Given the description of an element on the screen output the (x, y) to click on. 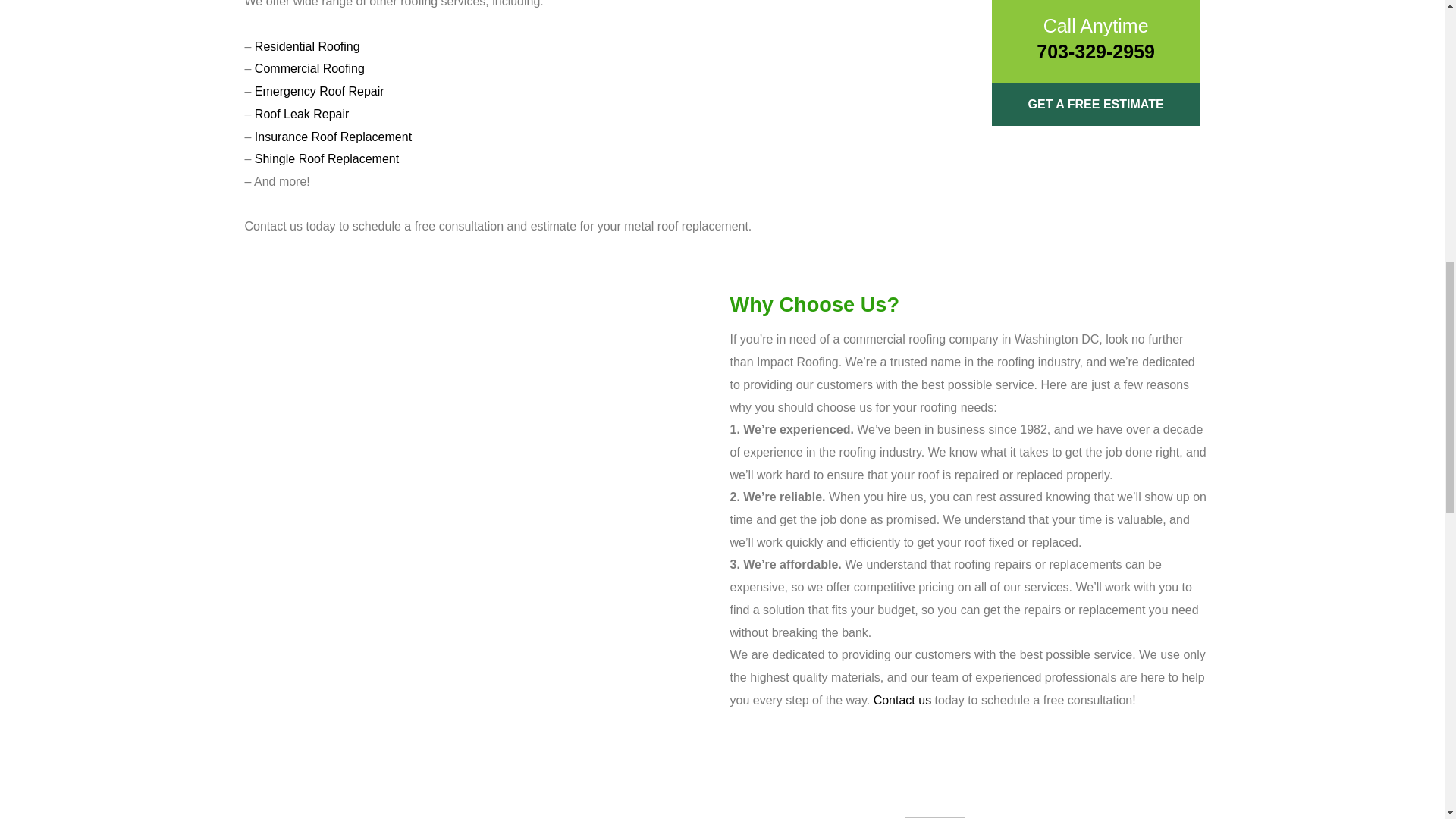
Commercial Roofing (309, 68)
Residential Roofing (306, 46)
GET A FREE ESTIMATE (1095, 104)
Contact us (902, 699)
Shingle Roof Replacement (326, 158)
Emergency Roof Repair (319, 91)
Roof Leak Repair (301, 113)
Insurance Roof Replacement (333, 136)
703-329-2959 (1095, 51)
